Given the description of an element on the screen output the (x, y) to click on. 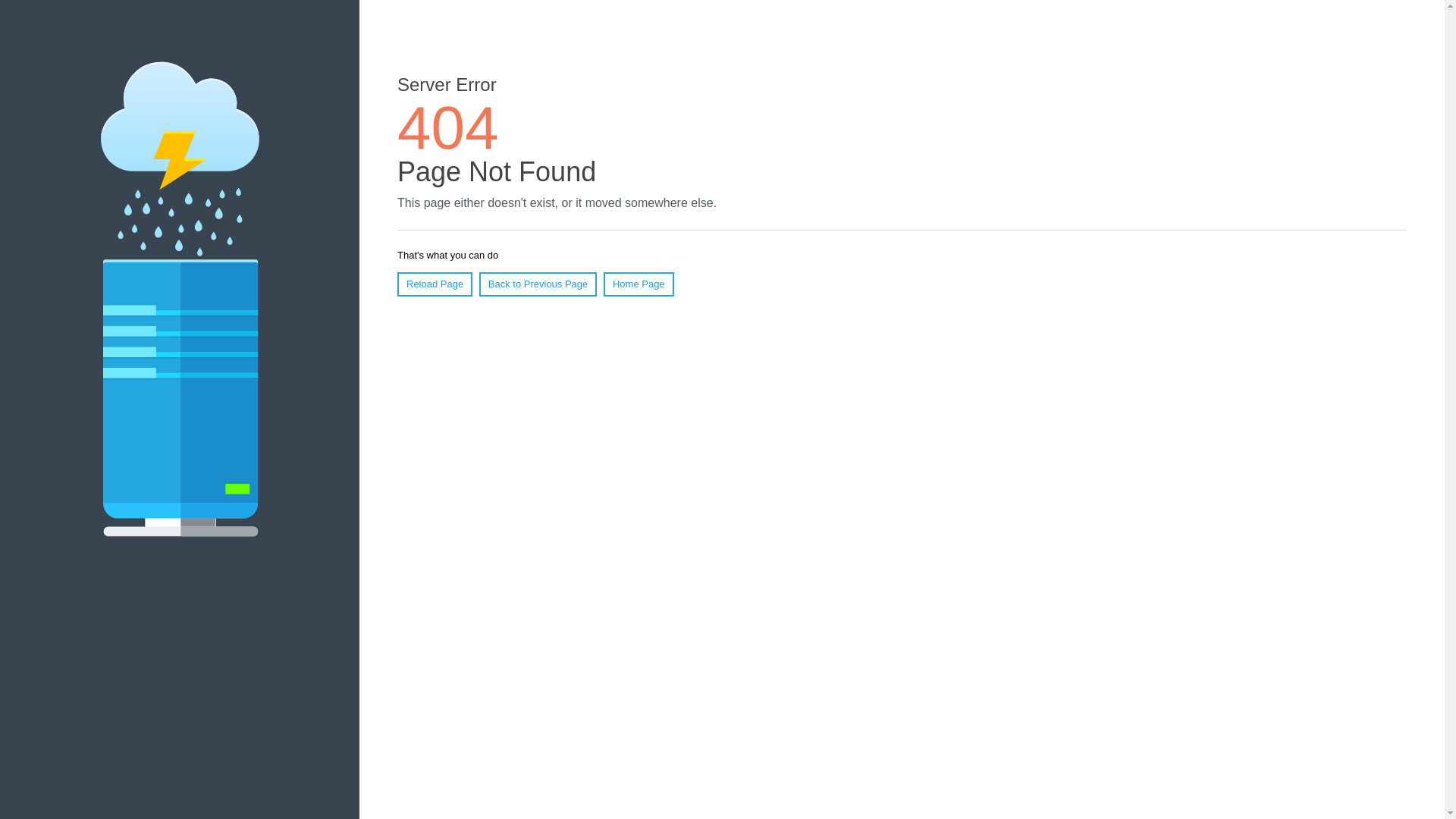
Back to Previous Page Element type: text (538, 284)
Reload Page Element type: text (434, 284)
Home Page Element type: text (638, 284)
